Given the description of an element on the screen output the (x, y) to click on. 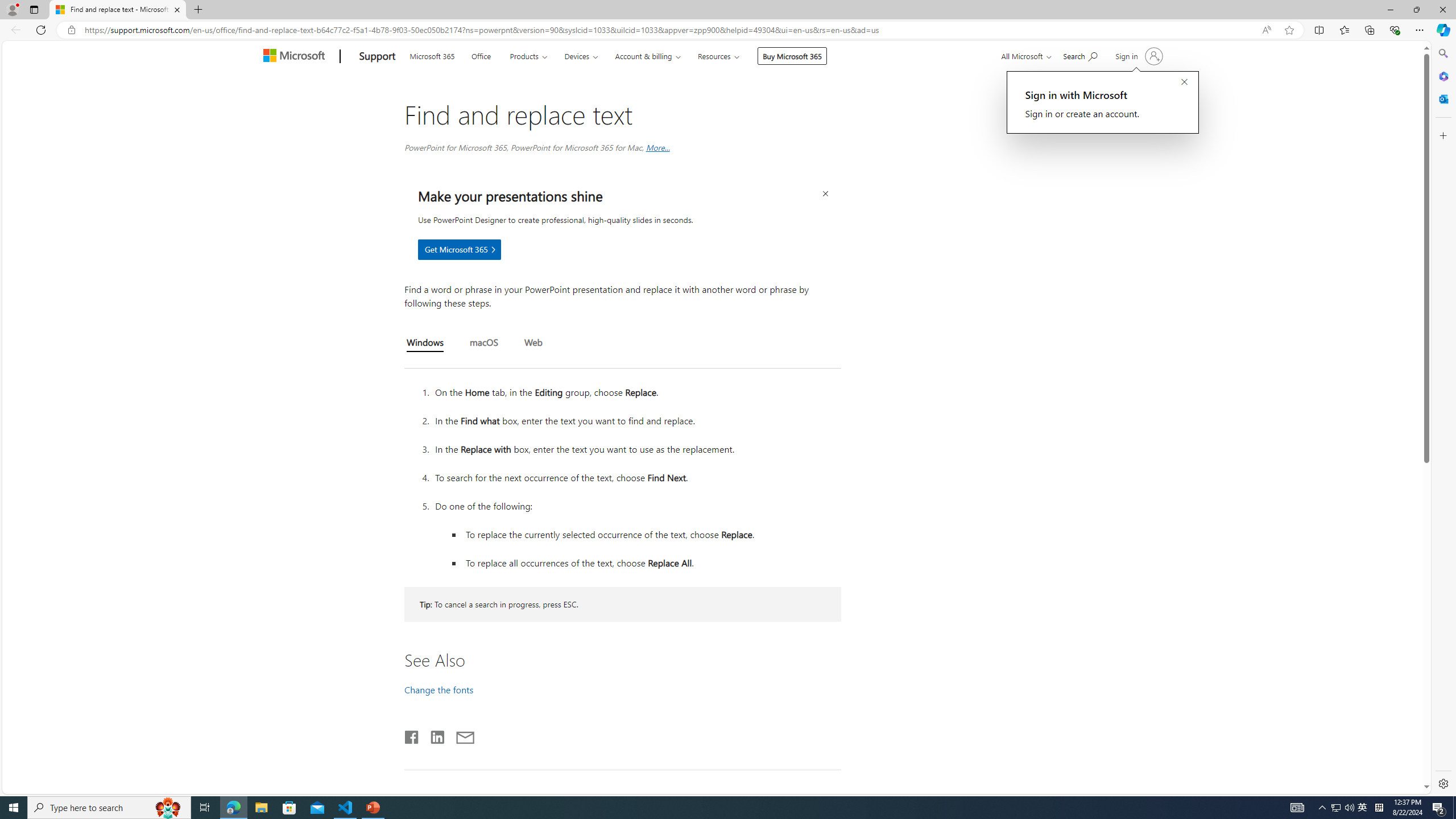
Sign in to your account (1137, 55)
LinkedIn (436, 735)
New Tab (198, 9)
Copilot (Ctrl+Shift+.) (1442, 29)
View site information (70, 29)
Close callout prompt. (1184, 82)
